Given the description of an element on the screen output the (x, y) to click on. 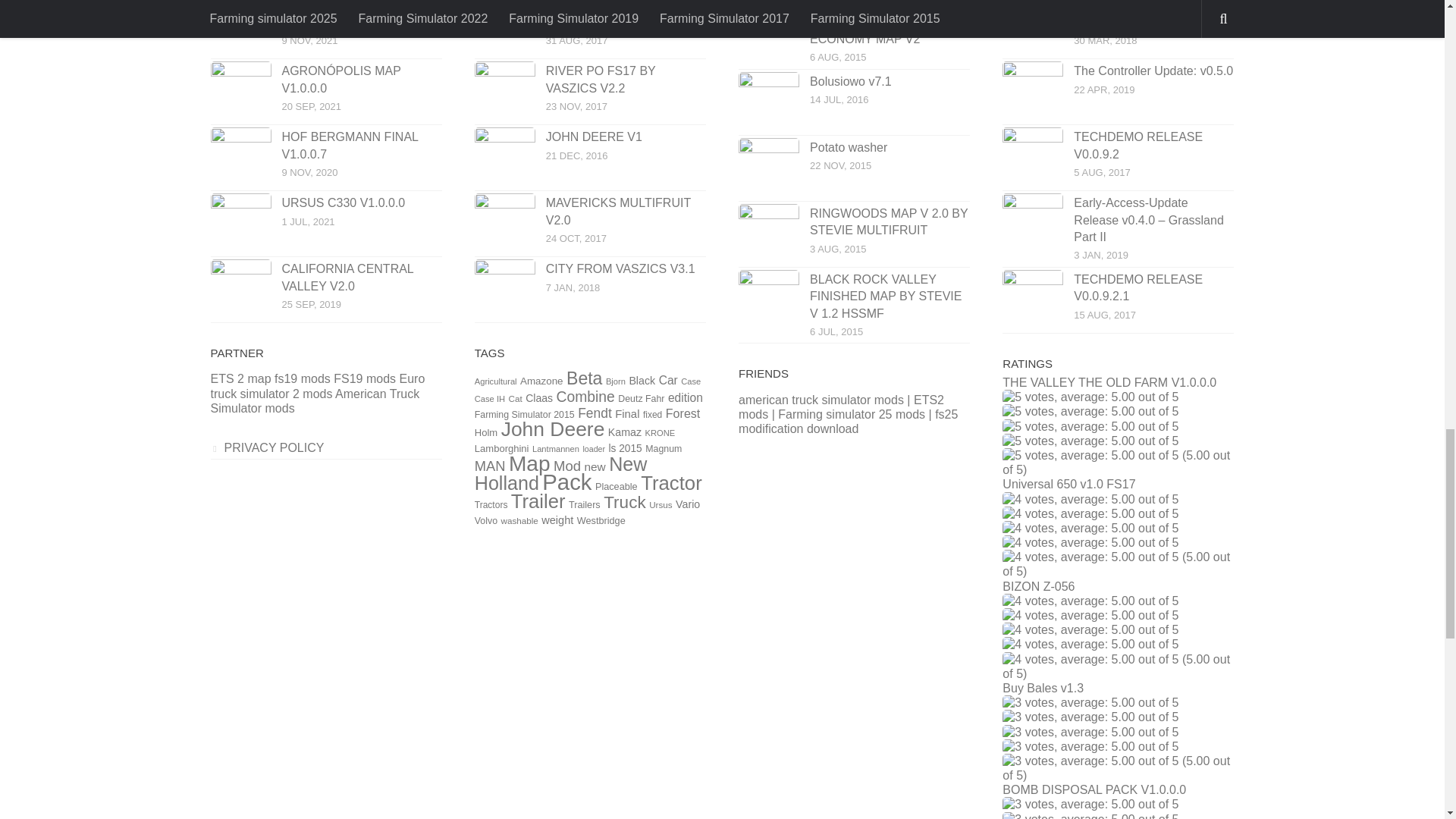
URSUS C330 V1.0.0.0 (344, 202)
URSUS C330 V1.0.0.0 (240, 223)
DELOREAN TIME MACHINE V1.0.0.0 (240, 28)
HOF BERGMANN FINAL V1.0.0.7 (350, 144)
HOF BERGMANN FINAL V1.0.0.7 (240, 157)
DELOREAN TIME MACHINE V1.0.0.0 (361, 13)
